Given the description of an element on the screen output the (x, y) to click on. 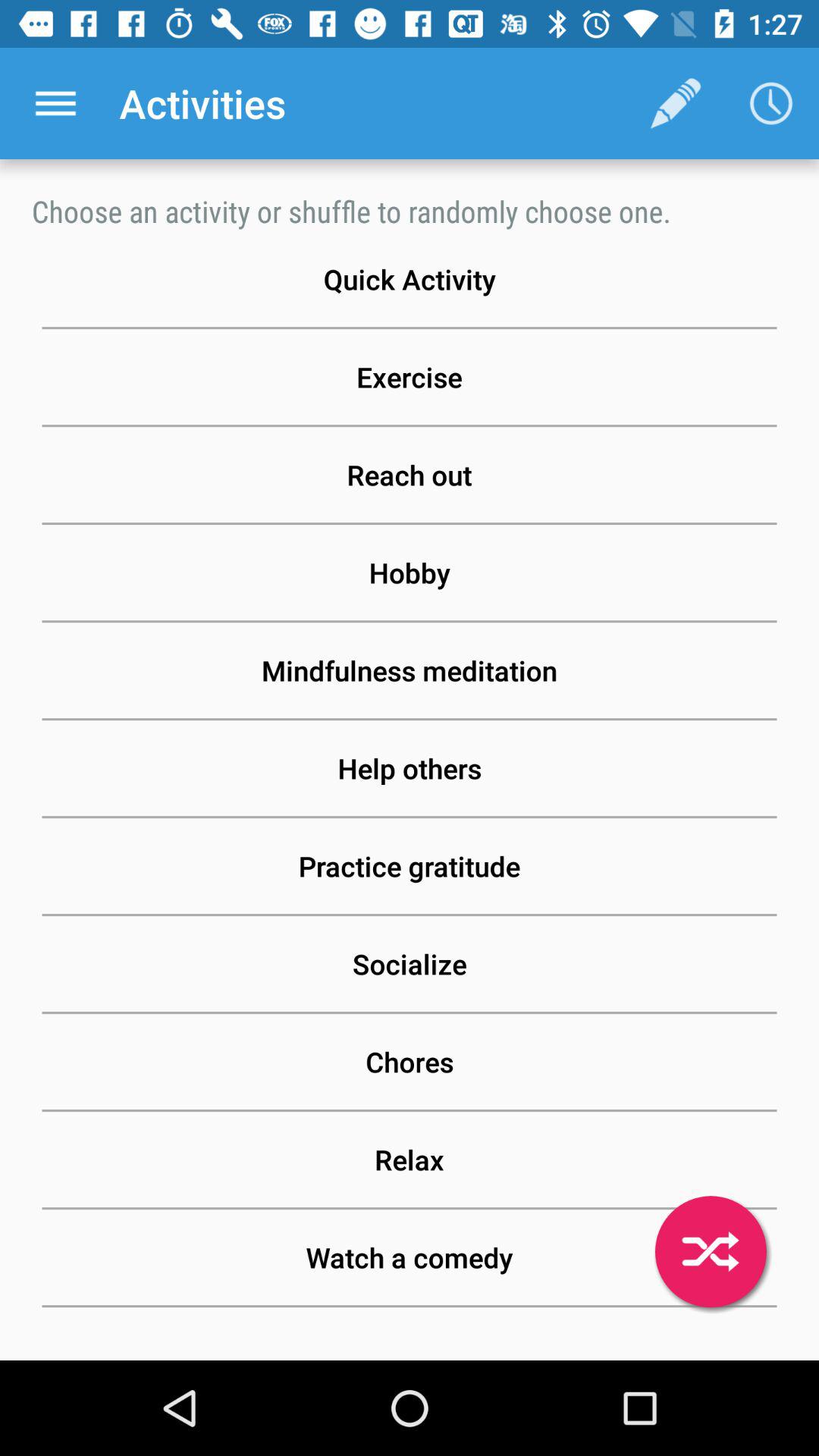
jump until the hobby (409, 572)
